Given the description of an element on the screen output the (x, y) to click on. 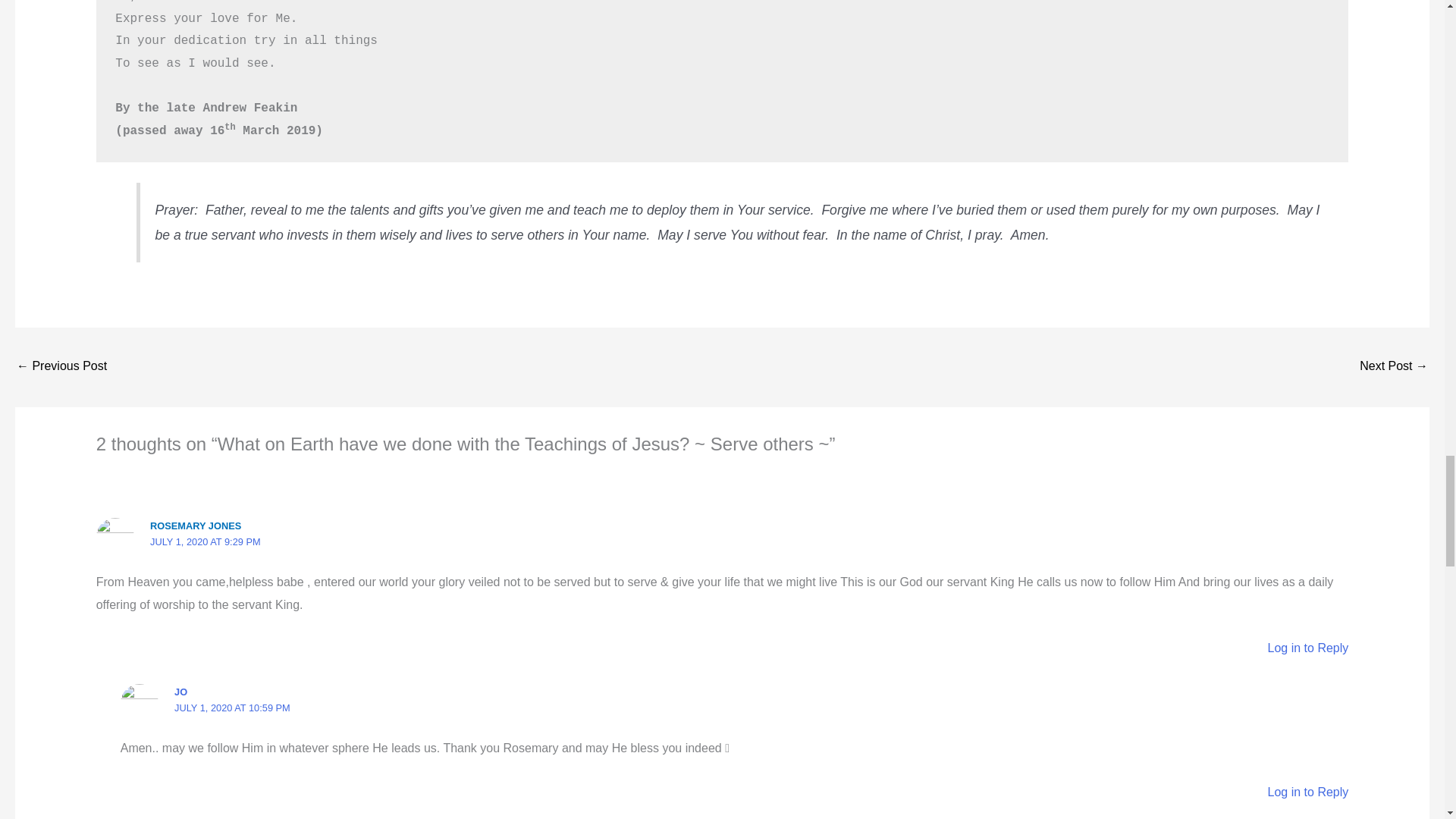
Log in to Reply (1308, 791)
JULY 1, 2020 AT 10:59 PM (231, 707)
Log in to Reply (1308, 647)
JULY 1, 2020 AT 9:29 PM (204, 541)
JO (180, 691)
